Given the description of an element on the screen output the (x, y) to click on. 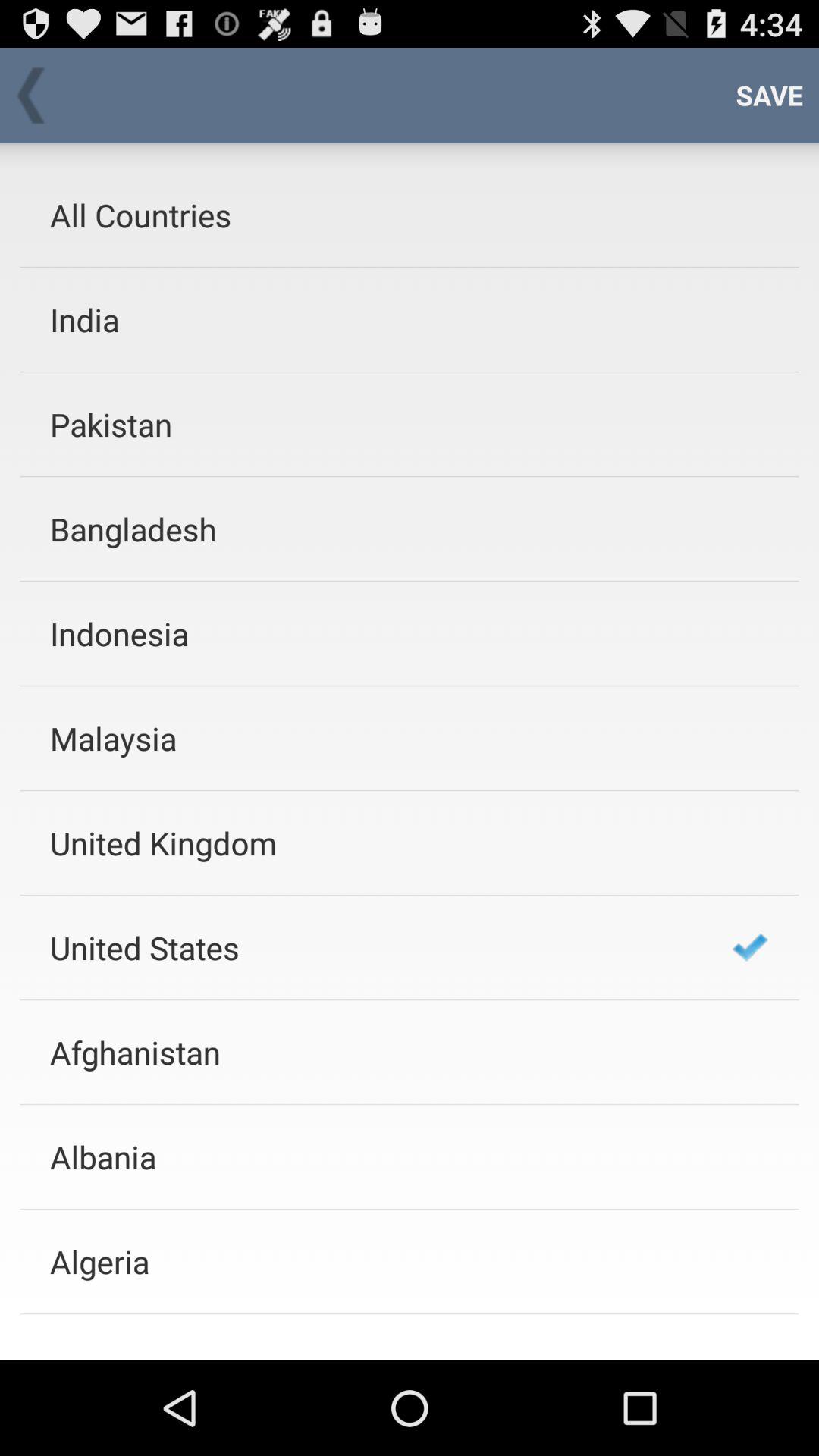
open item below the india app (371, 423)
